Given the description of an element on the screen output the (x, y) to click on. 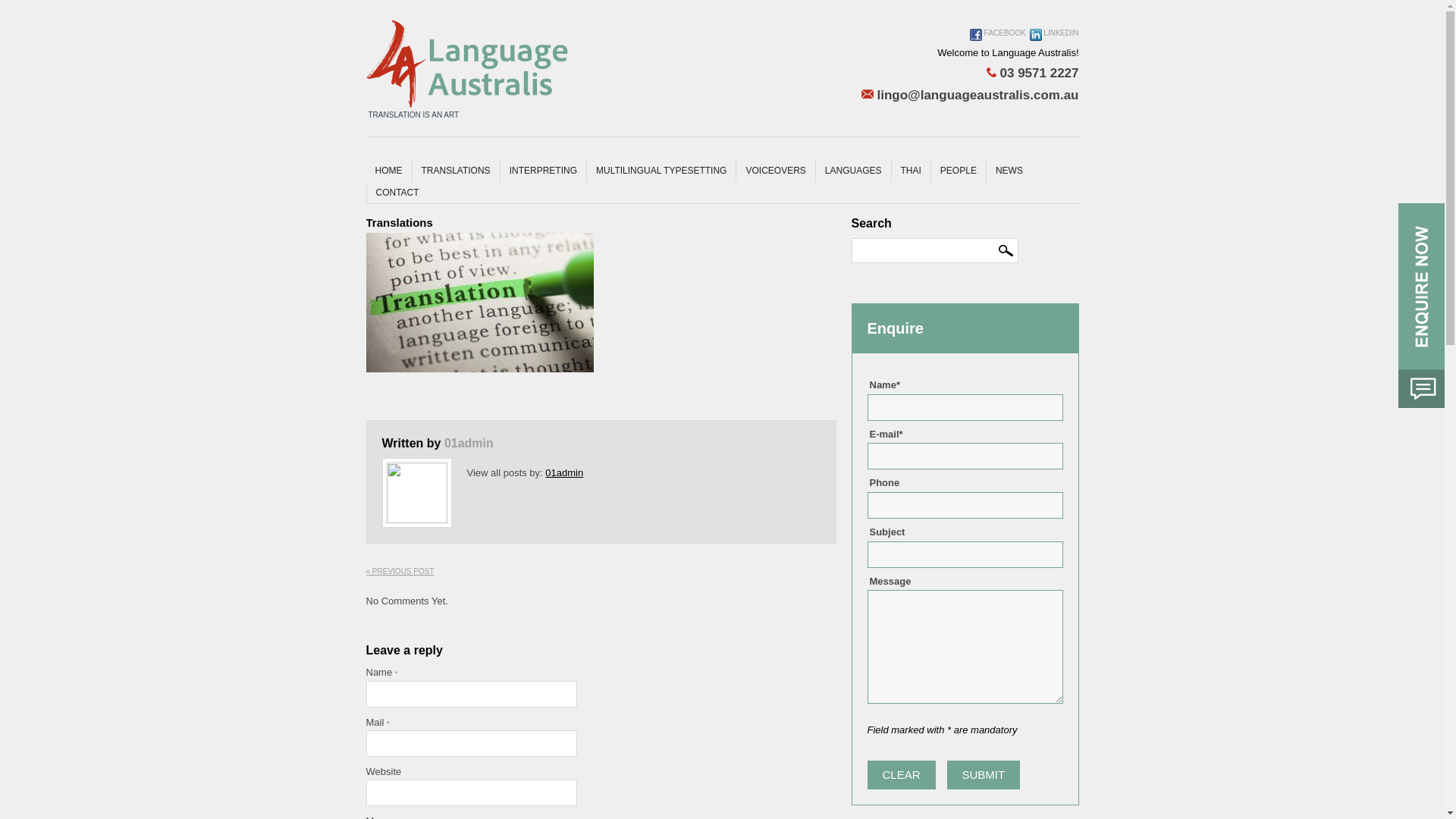
CONTACT Element type: text (396, 192)
PEOPLE Element type: text (957, 171)
LANGUAGES Element type: text (853, 171)
LINKEDIN Element type: text (1054, 39)
INTERPRETING Element type: text (542, 171)
03 9571 2227 Element type: text (970, 73)
VOICEOVERS Element type: text (774, 171)
THAI Element type: text (910, 171)
TRANSLATIONS Element type: text (454, 171)
Translation is an Art Element type: hover (466, 63)
FACEBOOK Element type: text (997, 39)
SUBMIT Element type: text (983, 774)
lingo@languageaustralis.com.au Element type: text (970, 95)
01admin Element type: text (468, 442)
01admin Element type: text (564, 472)
MULTILINGUAL TYPESETTING Element type: text (660, 171)
NEWS Element type: text (1008, 171)
HOME Element type: text (388, 171)
